Given the description of an element on the screen output the (x, y) to click on. 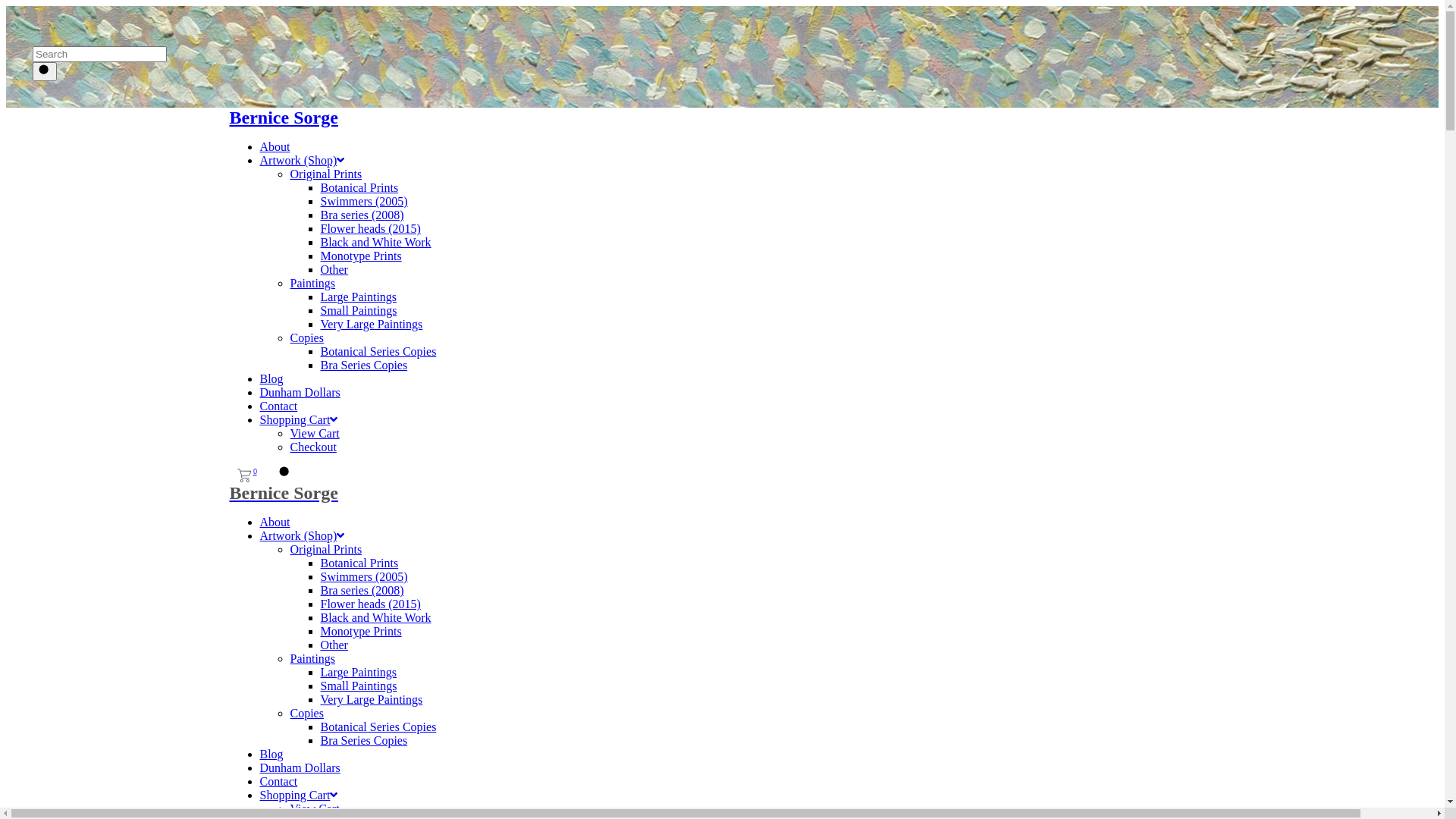
Large Paintings Element type: text (358, 296)
Contact Element type: text (278, 781)
Botanical Prints Element type: text (359, 562)
Copies Element type: text (306, 337)
Bra series (2008) Element type: text (361, 589)
Flower heads (2015) Element type: text (370, 228)
Checkout Element type: text (312, 446)
Bra series (2008) Element type: text (361, 214)
0 Element type: text (246, 474)
Flower heads (2015) Element type: text (370, 603)
Monotype Prints Element type: text (360, 630)
View Cart Element type: text (313, 432)
Botanical Series Copies Element type: text (378, 726)
Paintings Element type: text (312, 282)
Large Paintings Element type: text (358, 671)
Artwork (Shop) Element type: text (301, 159)
Swimmers (2005) Element type: text (363, 576)
Bra Series Copies Element type: text (363, 740)
Small Paintings Element type: text (358, 685)
Copies Element type: text (306, 712)
Other Element type: text (333, 269)
Small Paintings Element type: text (358, 310)
Very Large Paintings Element type: text (371, 323)
Other Element type: text (333, 644)
Bernice Sorge Element type: text (721, 117)
About Element type: text (274, 146)
Dunham Dollars Element type: text (299, 767)
Bernice Sorge Element type: text (721, 493)
Blog Element type: text (270, 753)
Original Prints Element type: text (325, 173)
Black and White Work Element type: text (375, 241)
Paintings Element type: text (312, 658)
Swimmers (2005) Element type: text (363, 200)
View Cart Element type: text (313, 808)
Shopping Cart Element type: text (298, 419)
Contact Element type: text (278, 405)
Monotype Prints Element type: text (360, 255)
About Element type: text (274, 521)
Blog Element type: text (270, 378)
Botanical Prints Element type: text (359, 187)
Dunham Dollars Element type: text (299, 391)
Artwork (Shop) Element type: text (301, 535)
Black and White Work Element type: text (375, 617)
Botanical Series Copies Element type: text (378, 351)
Shopping Cart Element type: text (298, 794)
Very Large Paintings Element type: text (371, 699)
Bra Series Copies Element type: text (363, 364)
Original Prints Element type: text (325, 548)
